Given the description of an element on the screen output the (x, y) to click on. 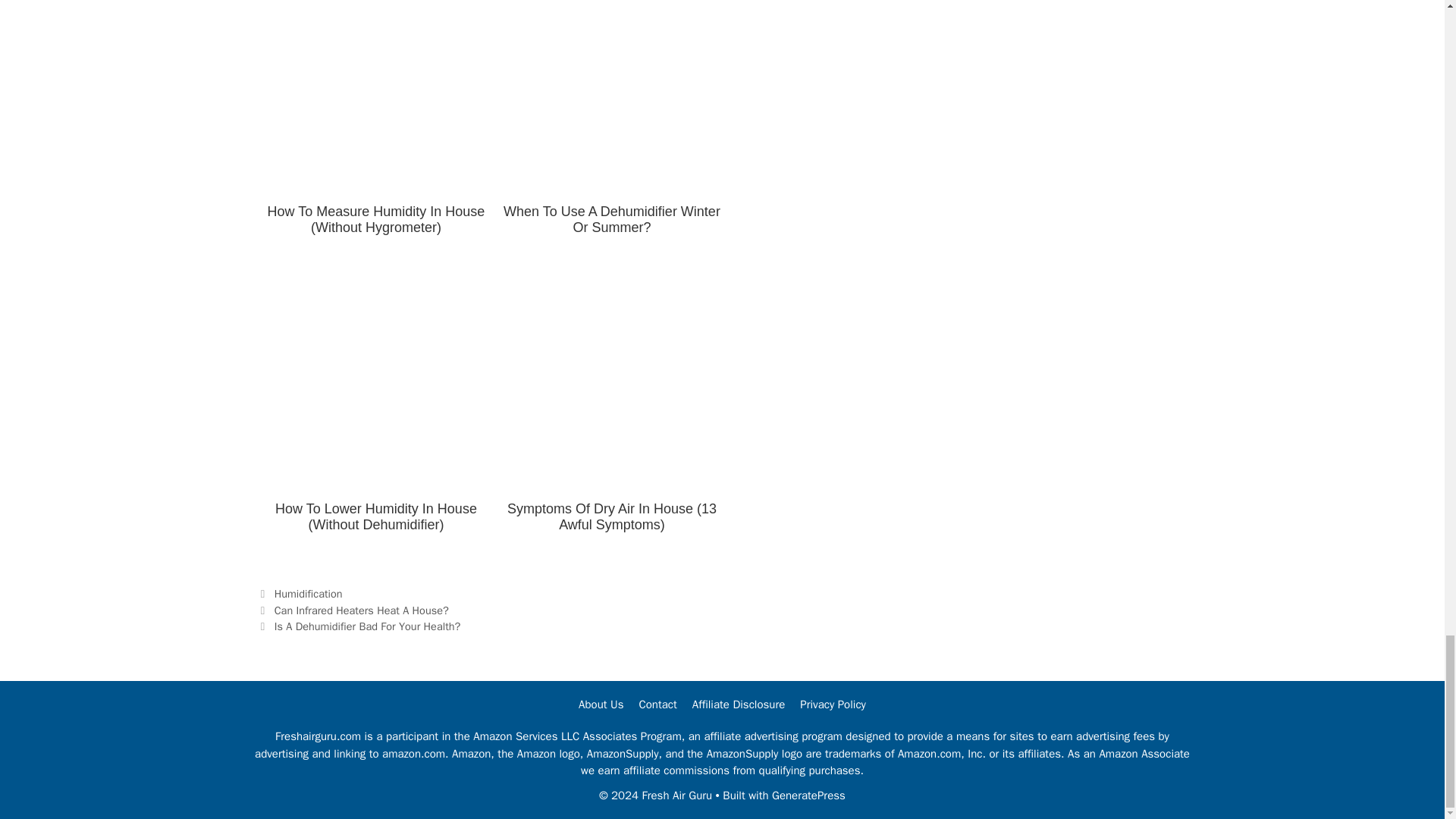
When To Use A Dehumidifier Winter Or Summer? (611, 131)
Privacy Policy (832, 704)
Can Infrared Heaters Heat A House? (361, 610)
Is A Dehumidifier Bad For Your Health? (368, 626)
About Us (600, 704)
Affiliate Disclosure (739, 704)
Humidification (308, 593)
Contact (658, 704)
GeneratePress (808, 795)
